Given the description of an element on the screen output the (x, y) to click on. 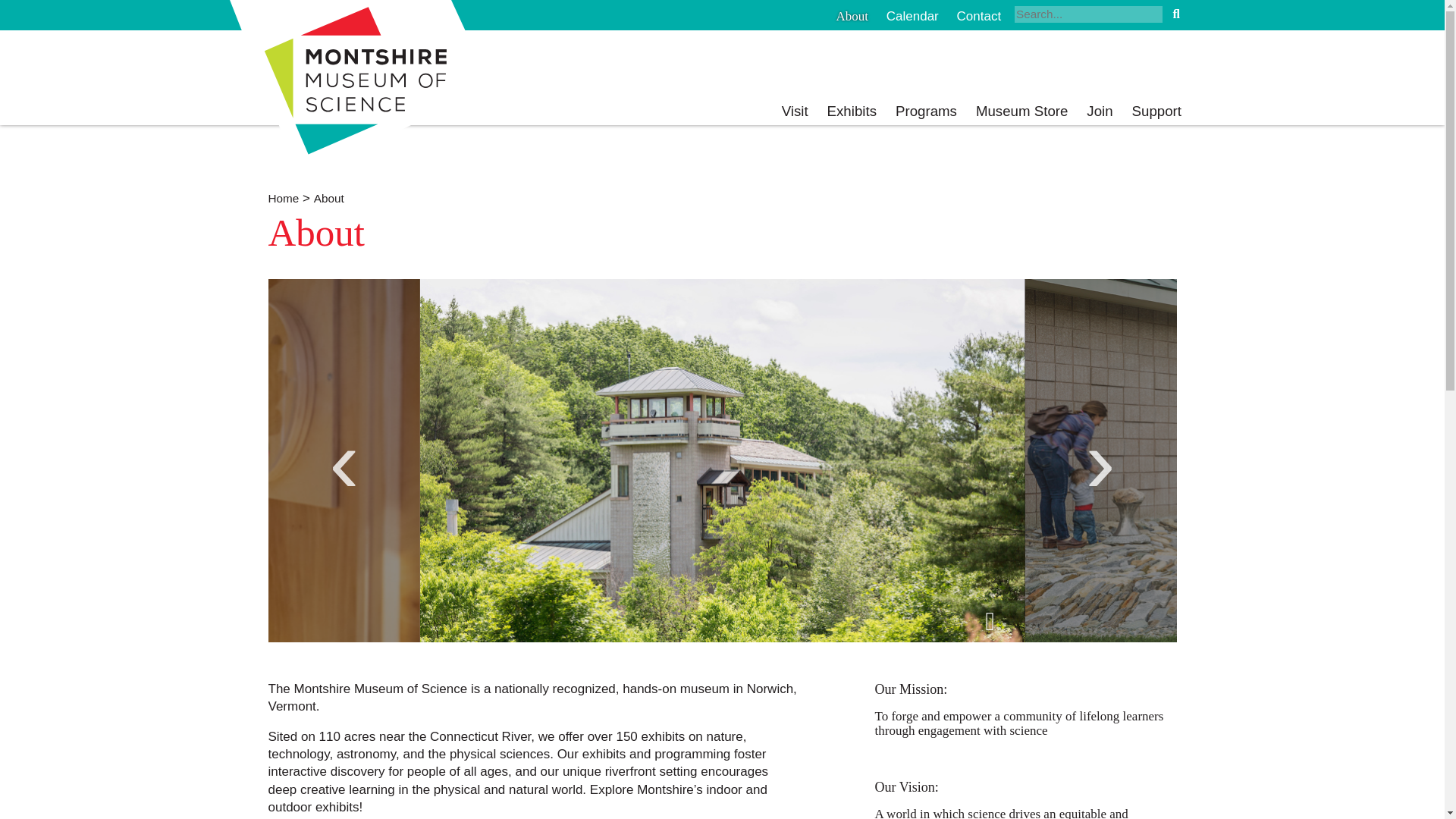
Montshire Museum of Science (361, 89)
Calendar (912, 16)
Programs (925, 110)
Contact (978, 16)
Support (1156, 110)
Museum Store (1021, 110)
Search (1176, 13)
Join (1099, 110)
Exhibits (851, 110)
About (852, 16)
Visit (794, 110)
